Given the description of an element on the screen output the (x, y) to click on. 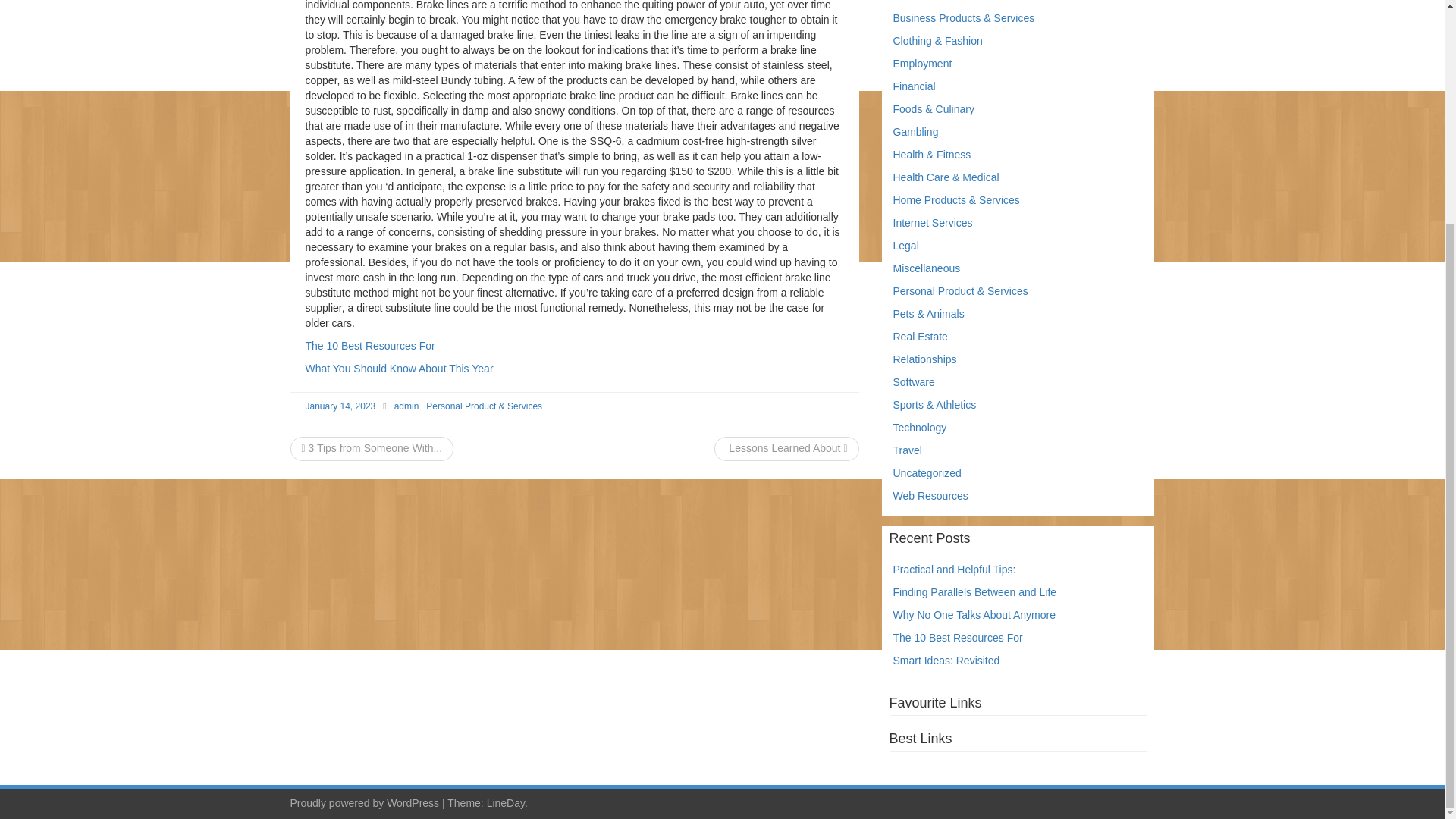
Employment (922, 63)
Internet Services (932, 223)
Gambling (916, 132)
Technology (920, 427)
What You Should Know About This Year (398, 368)
Relationships (924, 358)
Travel (907, 450)
January 14, 2023 (339, 406)
Why No One Talks About Anymore (975, 614)
Business (914, 0)
Software (913, 381)
Uncategorized (926, 472)
admin (406, 406)
 Lessons Learned About  (786, 448)
Practical and Helpful Tips: (954, 569)
